Given the description of an element on the screen output the (x, y) to click on. 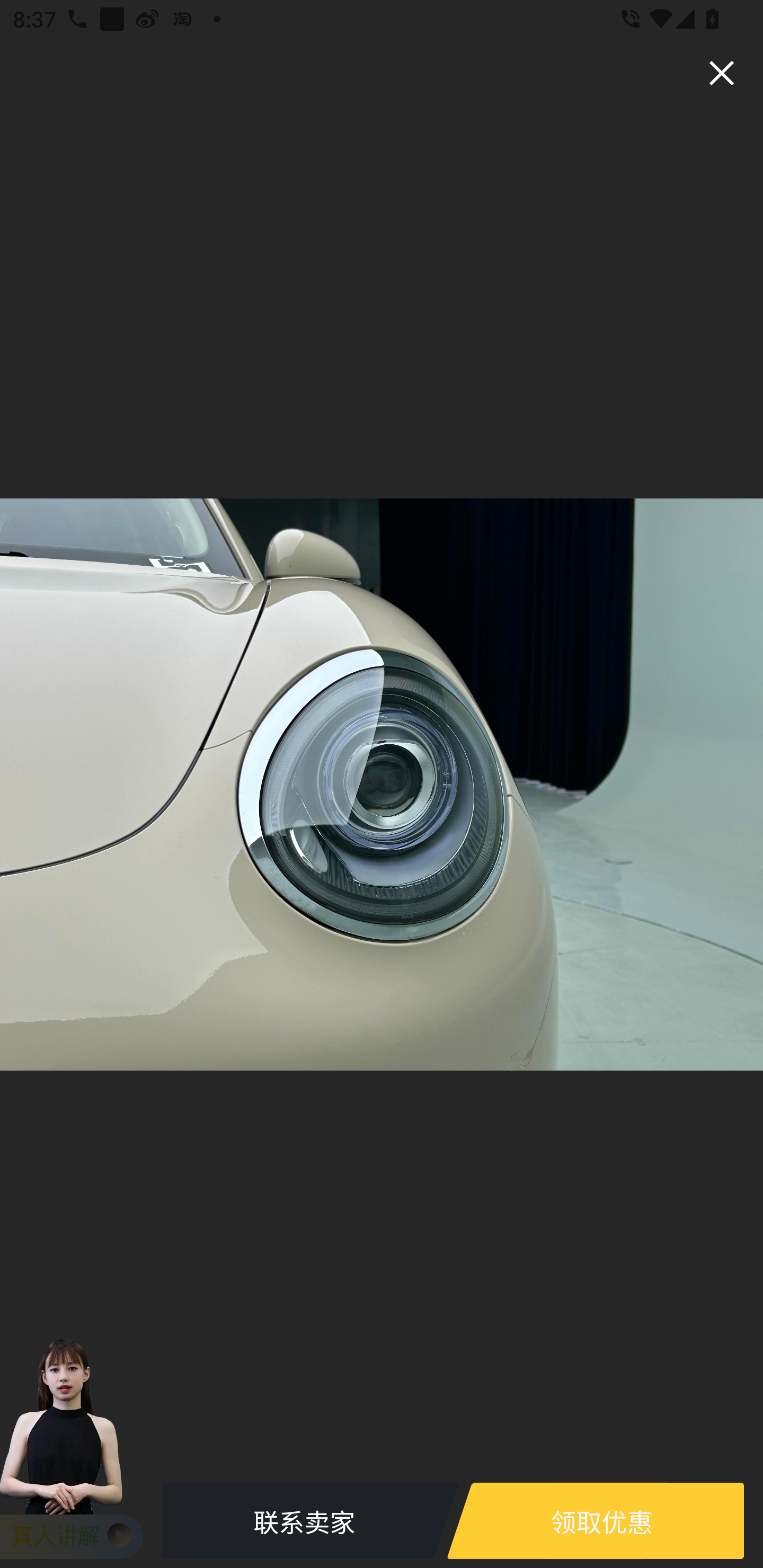
联系卖家 (303, 1520)
领取优惠 (601, 1520)
